Given the description of an element on the screen output the (x, y) to click on. 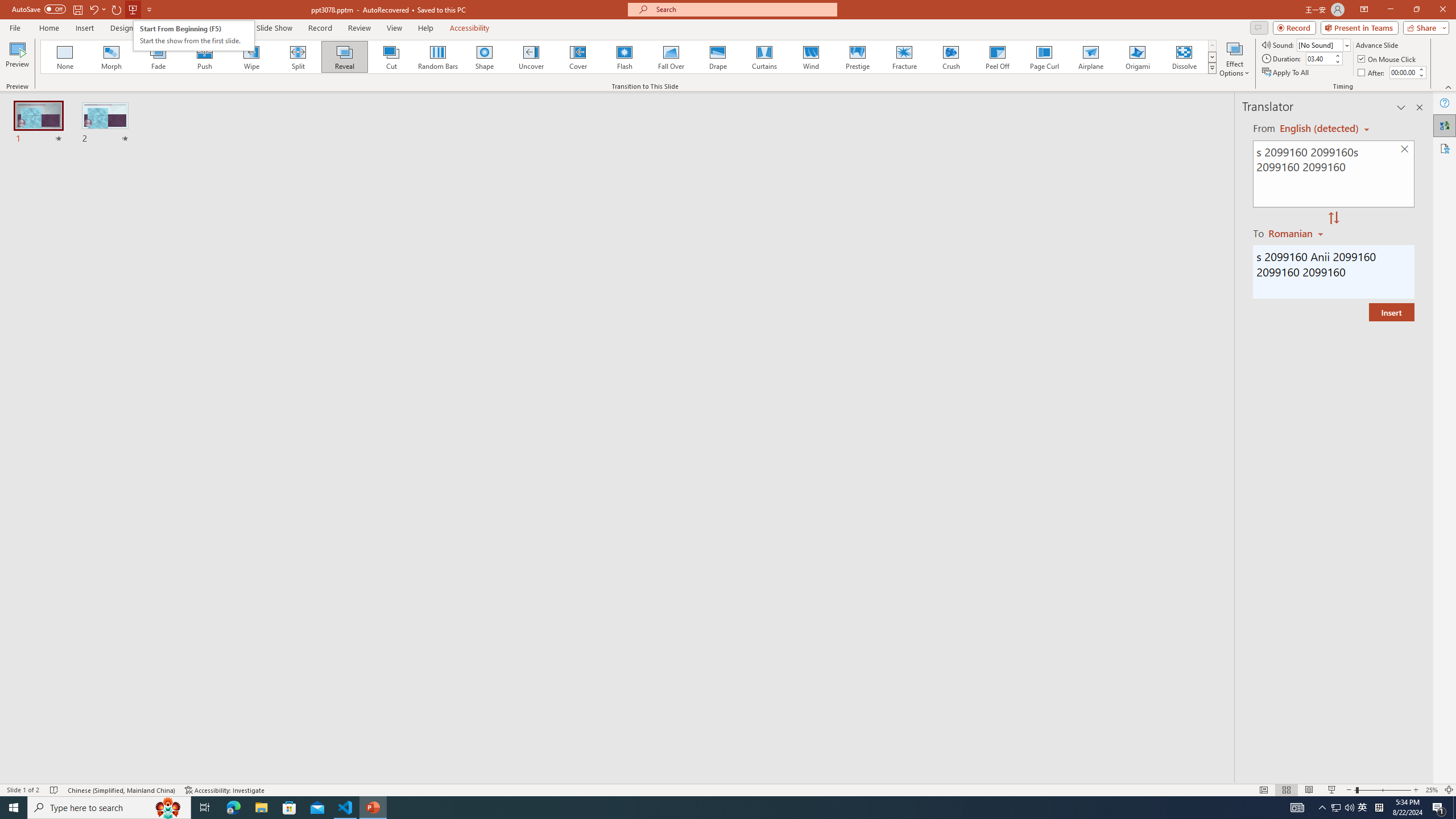
Transition Effects (1212, 67)
Random Bars (437, 56)
Dissolve (1183, 56)
Shape (484, 56)
Fracture (903, 56)
